Given the description of an element on the screen output the (x, y) to click on. 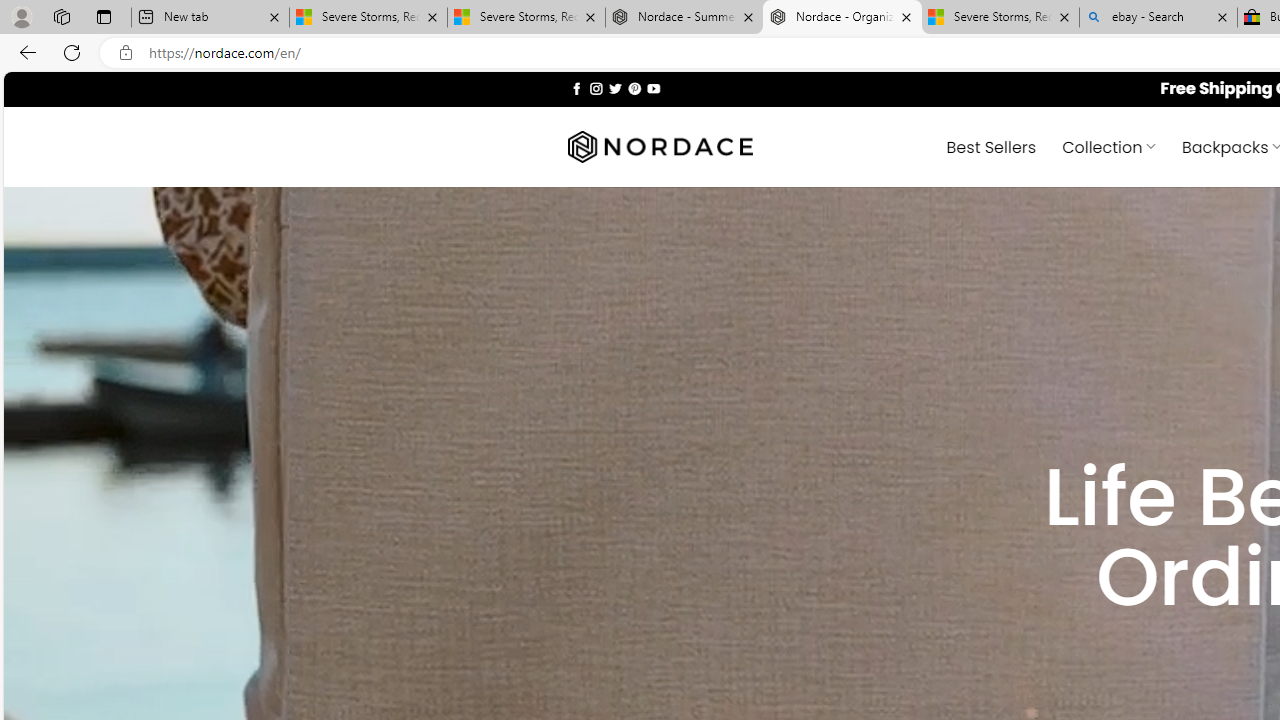
Follow on Pinterest (634, 88)
  Best Sellers (990, 146)
Follow on YouTube (653, 88)
Follow on Facebook (576, 88)
Follow on Twitter (615, 88)
